Given the description of an element on the screen output the (x, y) to click on. 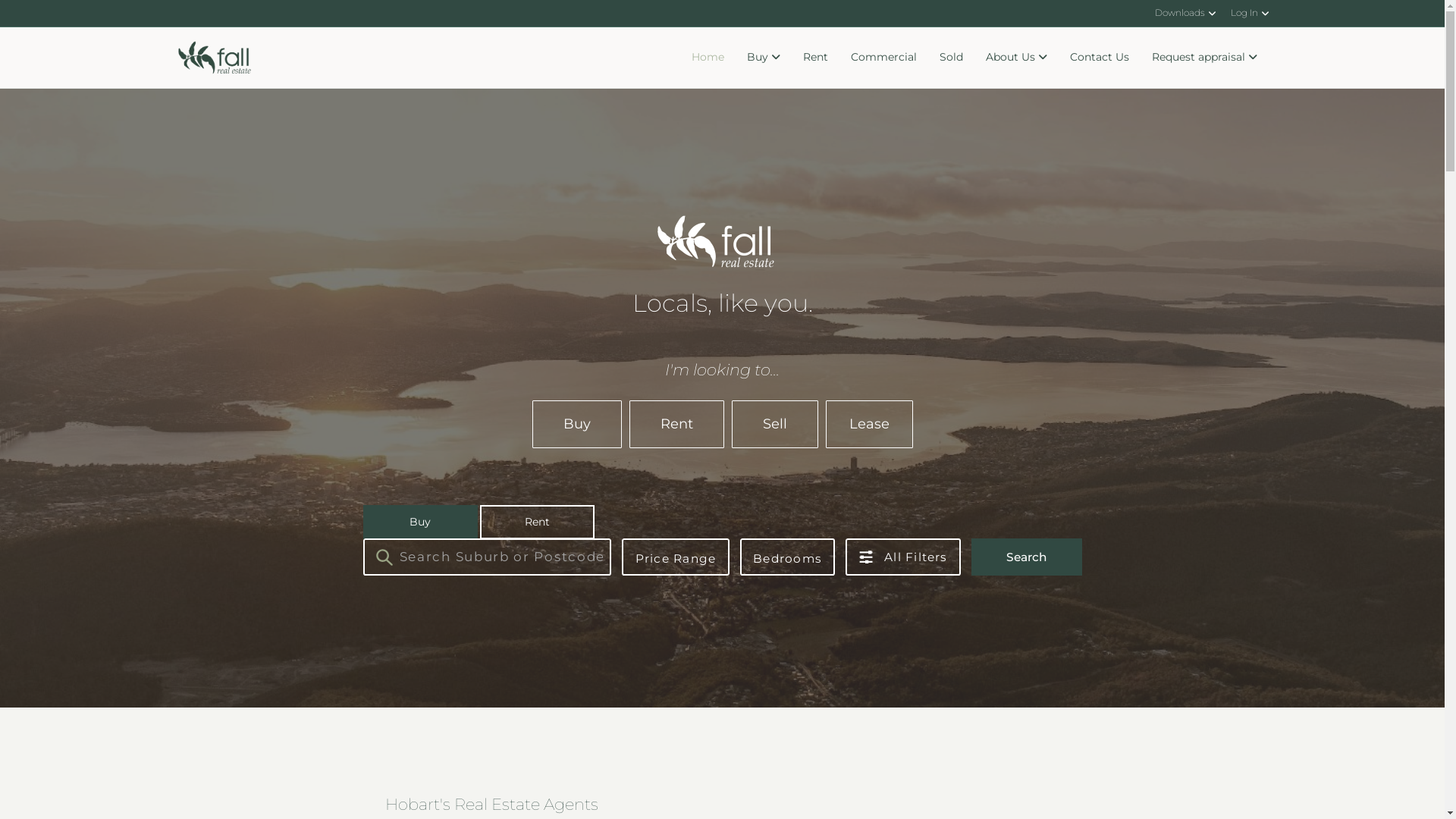
Home Element type: text (706, 57)
Commercial Element type: text (882, 57)
Sell Element type: text (774, 424)
Sold Element type: text (951, 57)
Rent Element type: text (676, 424)
Downloads Element type: text (1184, 12)
All Filters Element type: text (902, 556)
Buy Element type: text (576, 424)
Contact Us Element type: text (1099, 57)
Lease Element type: text (868, 424)
Buy Element type: text (763, 57)
Request appraisal Element type: text (1204, 57)
Search Element type: text (1026, 556)
Rent Element type: text (815, 57)
About Us Element type: text (1015, 57)
Log In Element type: text (1248, 12)
Fall logo white - web 2-01 Element type: hover (715, 243)
